Given the description of an element on the screen output the (x, y) to click on. 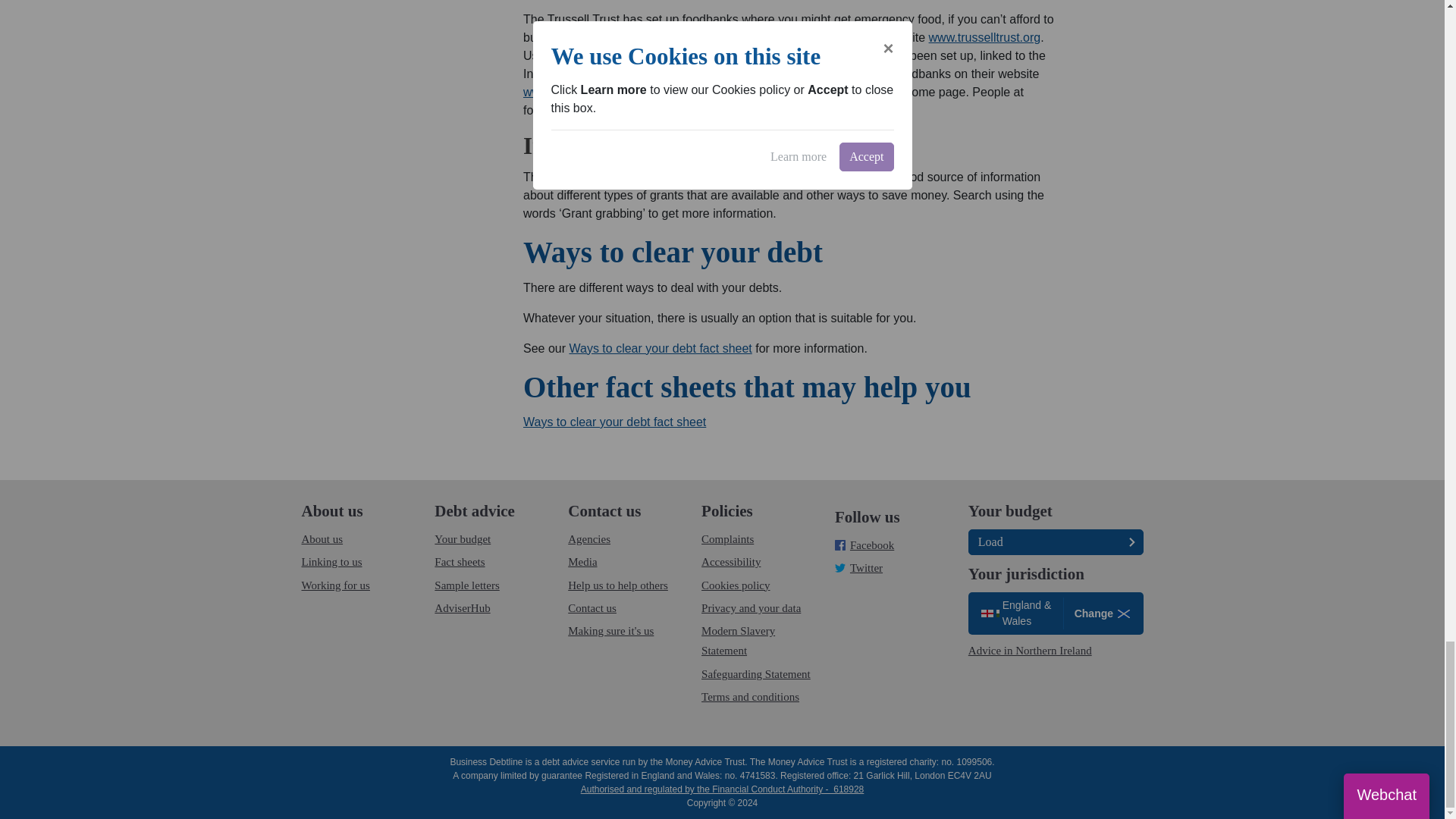
www.trusselltrust.org (984, 37)
